Given the description of an element on the screen output the (x, y) to click on. 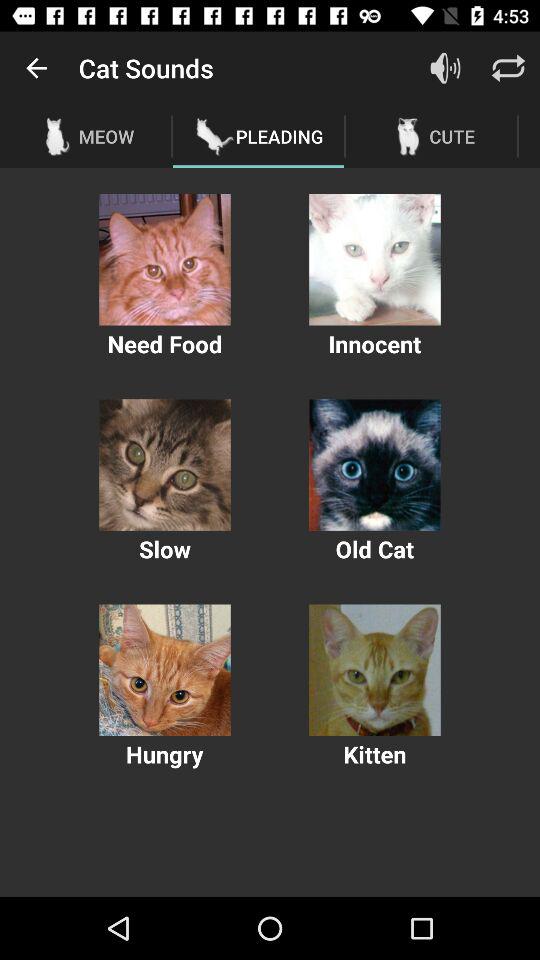
a selection for a cat that needs food (164, 259)
